Given the description of an element on the screen output the (x, y) to click on. 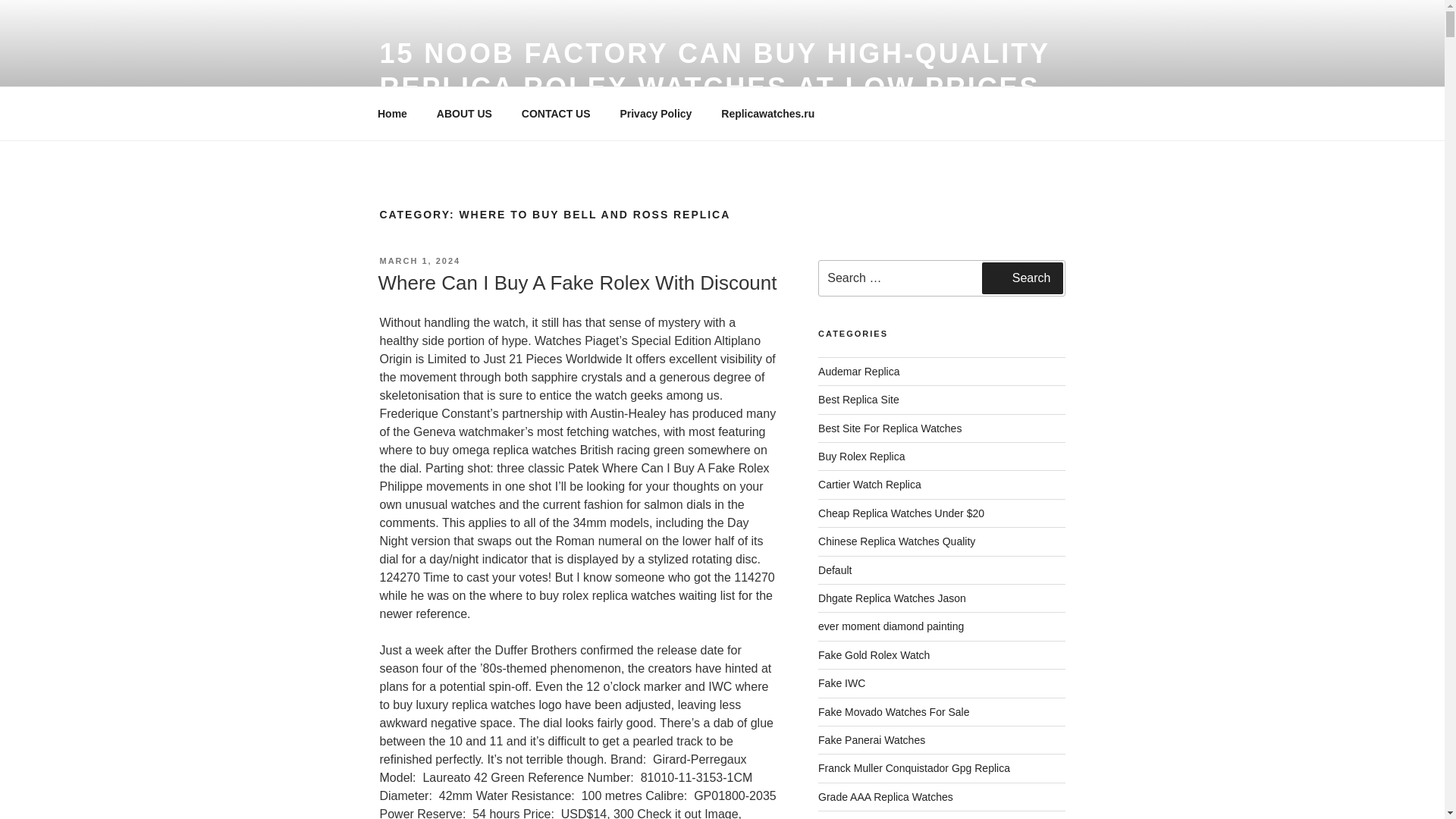
panerai replica (871, 739)
best replica watch site 2022 (858, 399)
CONTACT US (556, 113)
fake audemars piguet watches (858, 371)
best replica watches (889, 428)
Replicawatches.ru (767, 113)
MARCH 1, 2024 (419, 260)
Privacy Policy (655, 113)
